Given the description of an element on the screen output the (x, y) to click on. 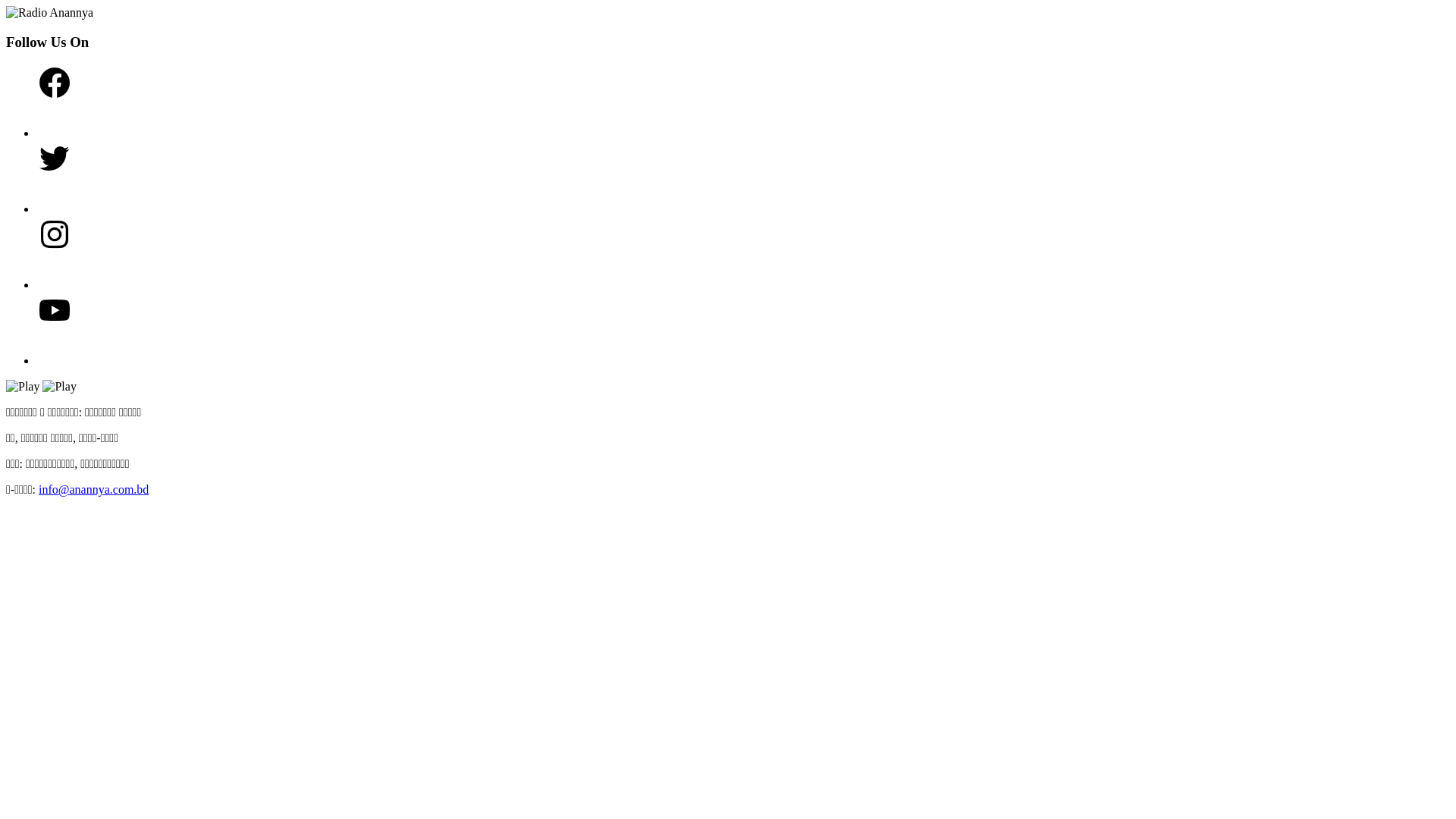
info@anannya.com.bd Element type: text (93, 489)
